Given the description of an element on the screen output the (x, y) to click on. 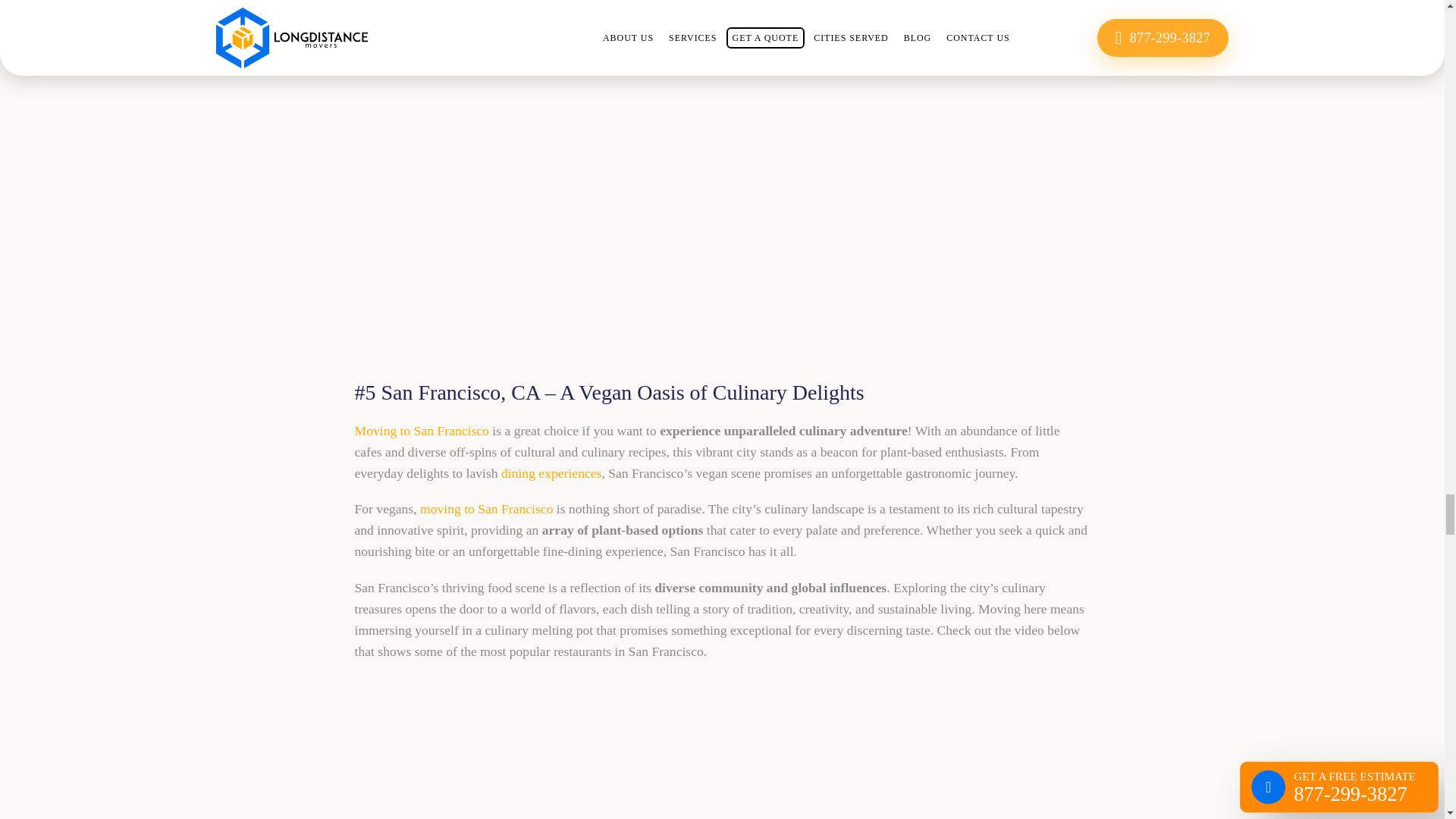
YouTube video player (721, 748)
